Given the description of an element on the screen output the (x, y) to click on. 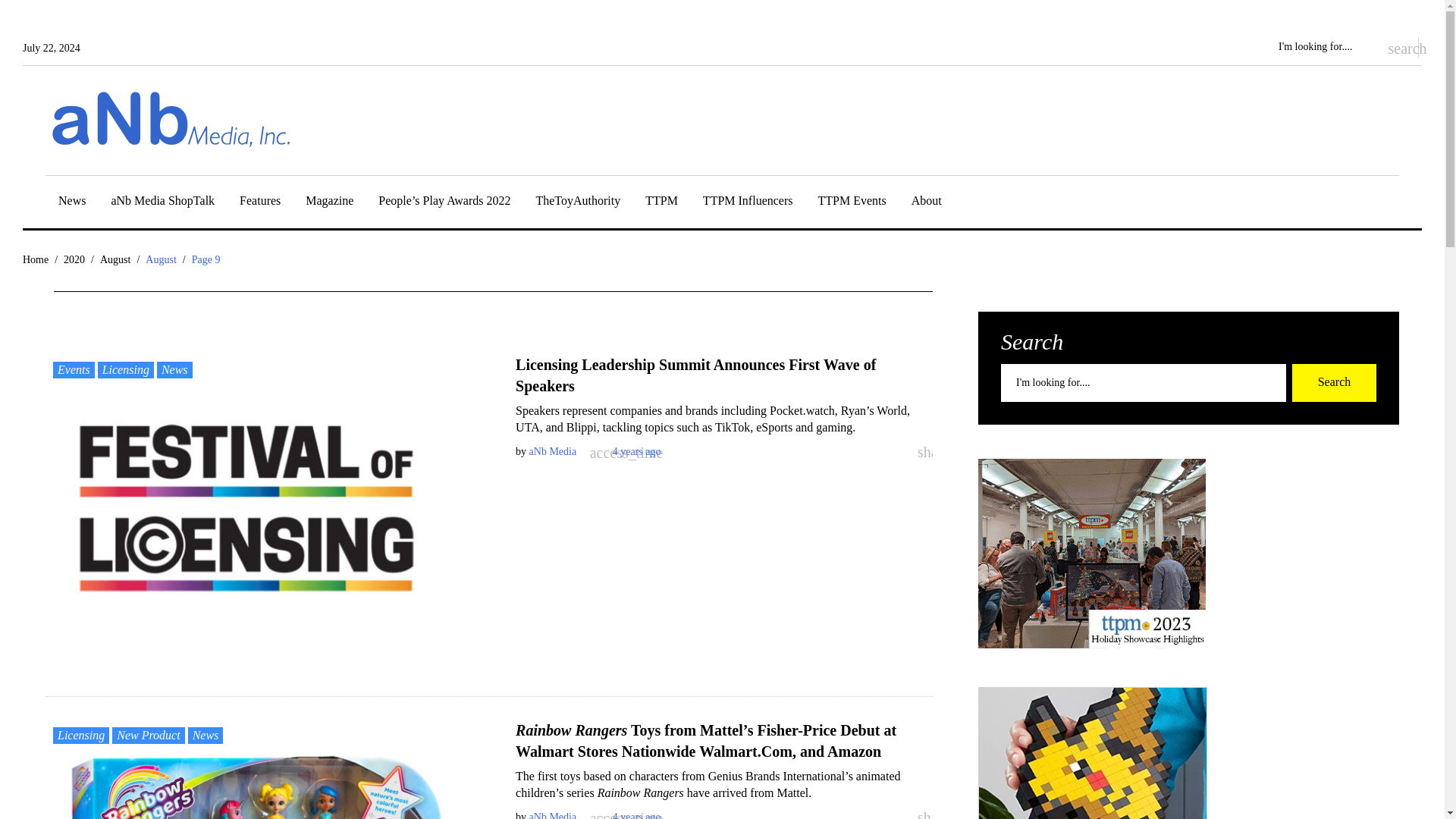
News (72, 203)
Magazine (329, 203)
TTPM Events (852, 203)
About (926, 203)
aNb Media ShopTalk (162, 203)
TTPM Influencers (748, 203)
Magazine (329, 203)
News (72, 203)
search (1395, 46)
TTPM (660, 203)
aNb Media ShopTalk (162, 203)
Features (260, 203)
TheToyAuthority (577, 203)
Features (260, 203)
Search for: (1324, 47)
